Given the description of an element on the screen output the (x, y) to click on. 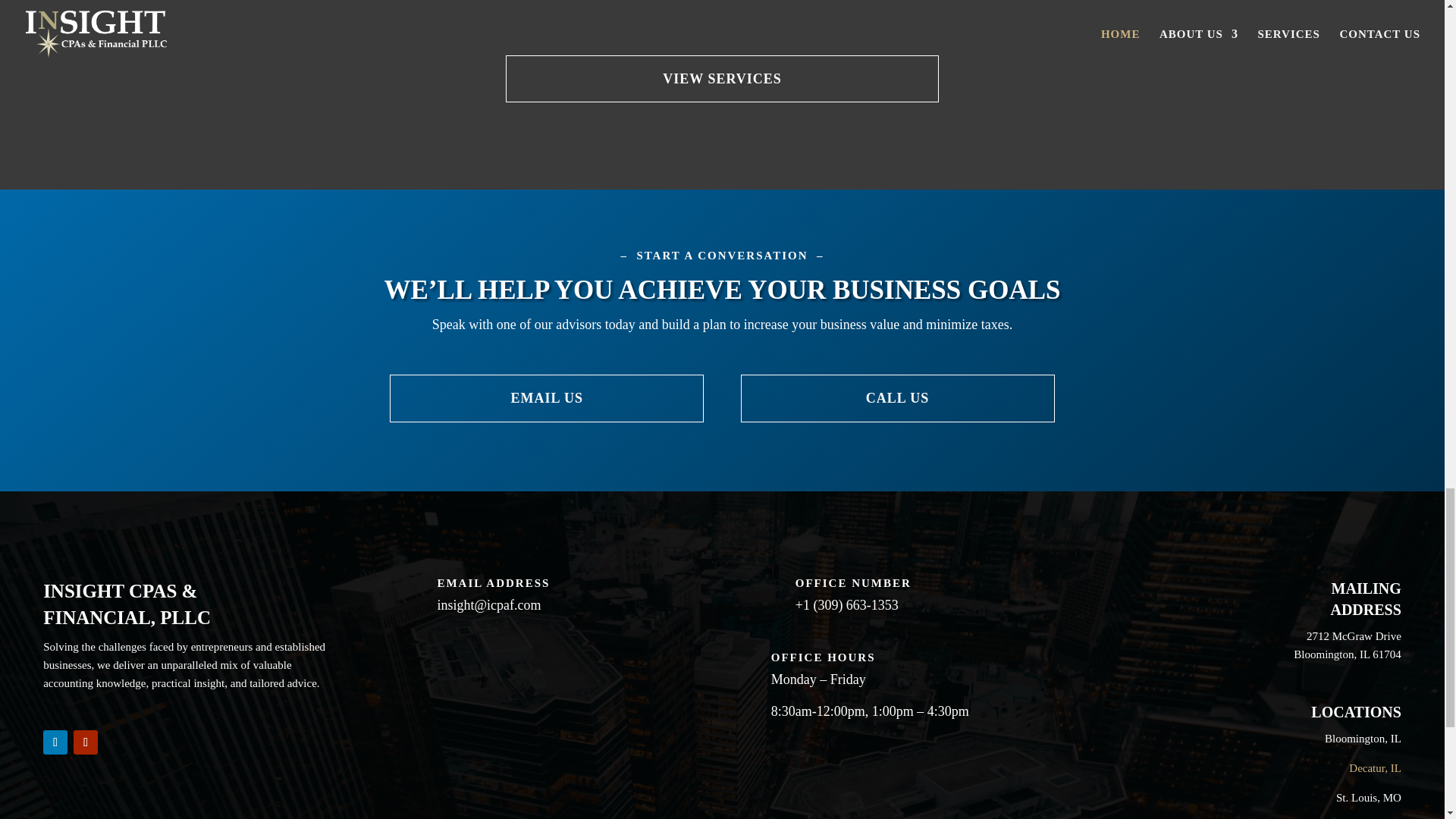
EMAIL US (546, 398)
Follow on LinkedIn (54, 742)
Follow on Youtube (85, 742)
CALL US (897, 398)
VIEW SERVICES (722, 79)
